Given the description of an element on the screen output the (x, y) to click on. 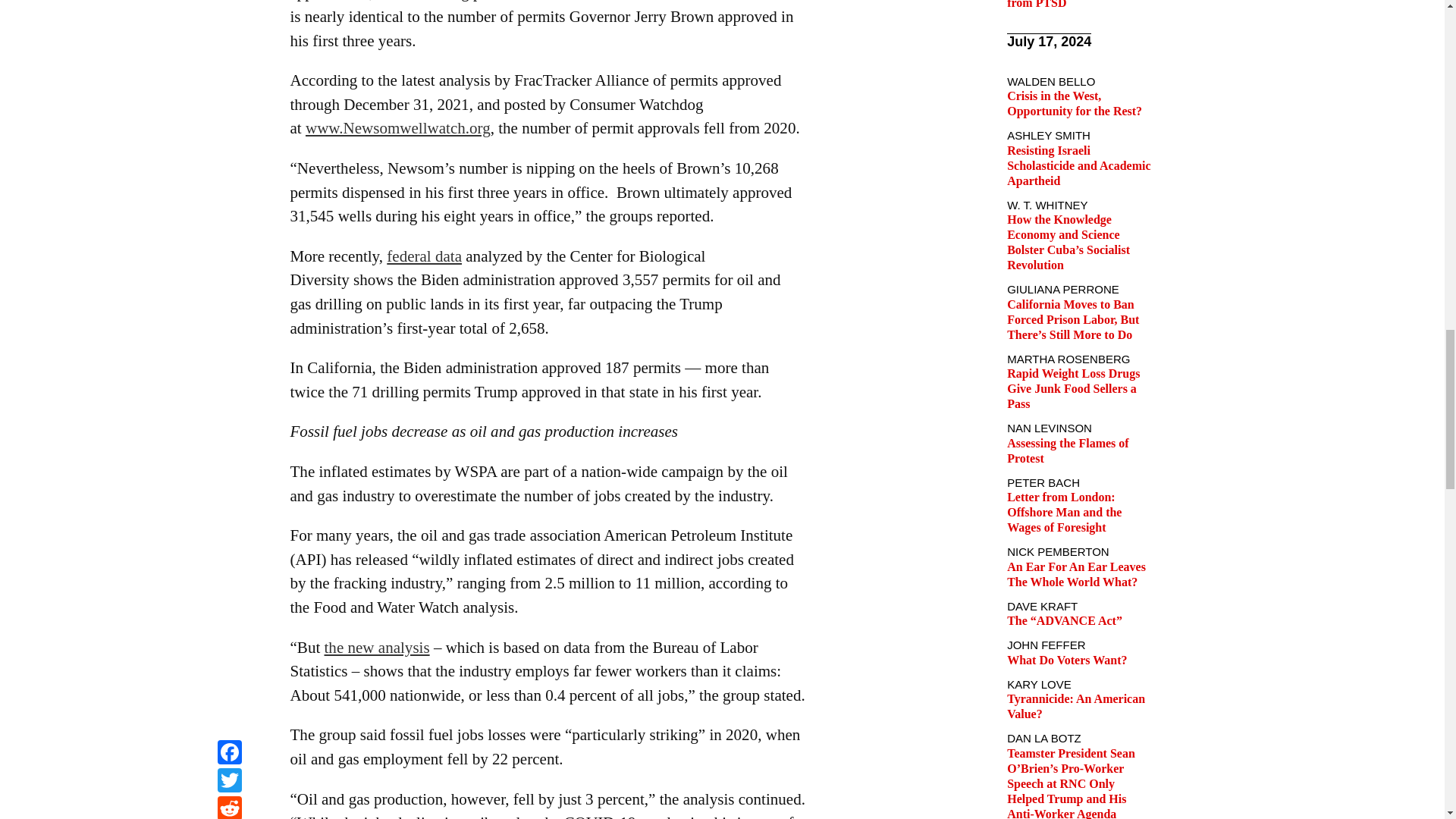
www.Newsomwellwatch.org (397, 127)
federal data (424, 256)
the new analysis (376, 647)
